Given the description of an element on the screen output the (x, y) to click on. 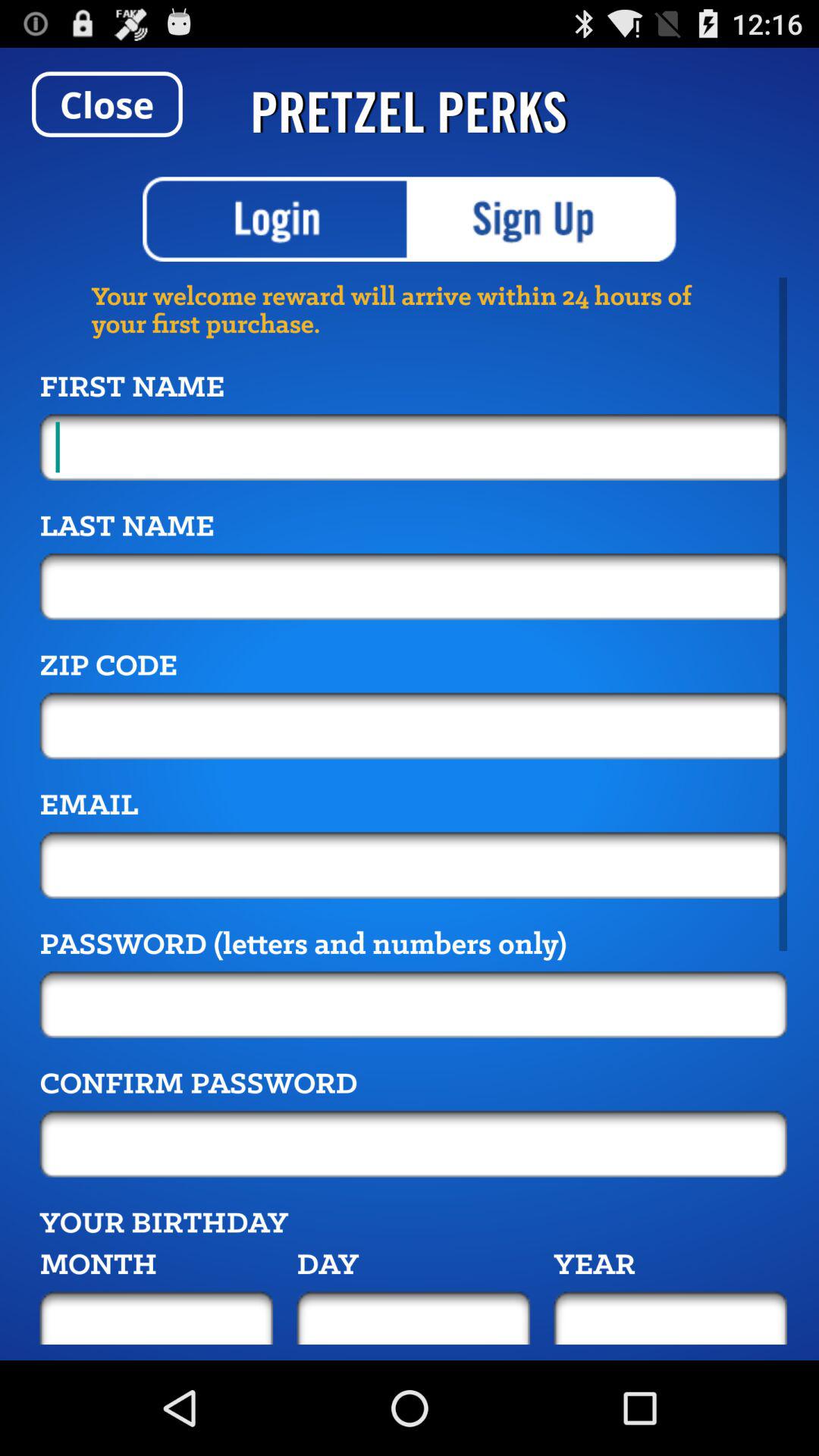
choose item to the left of pretzel perks (106, 104)
